Given the description of an element on the screen output the (x, y) to click on. 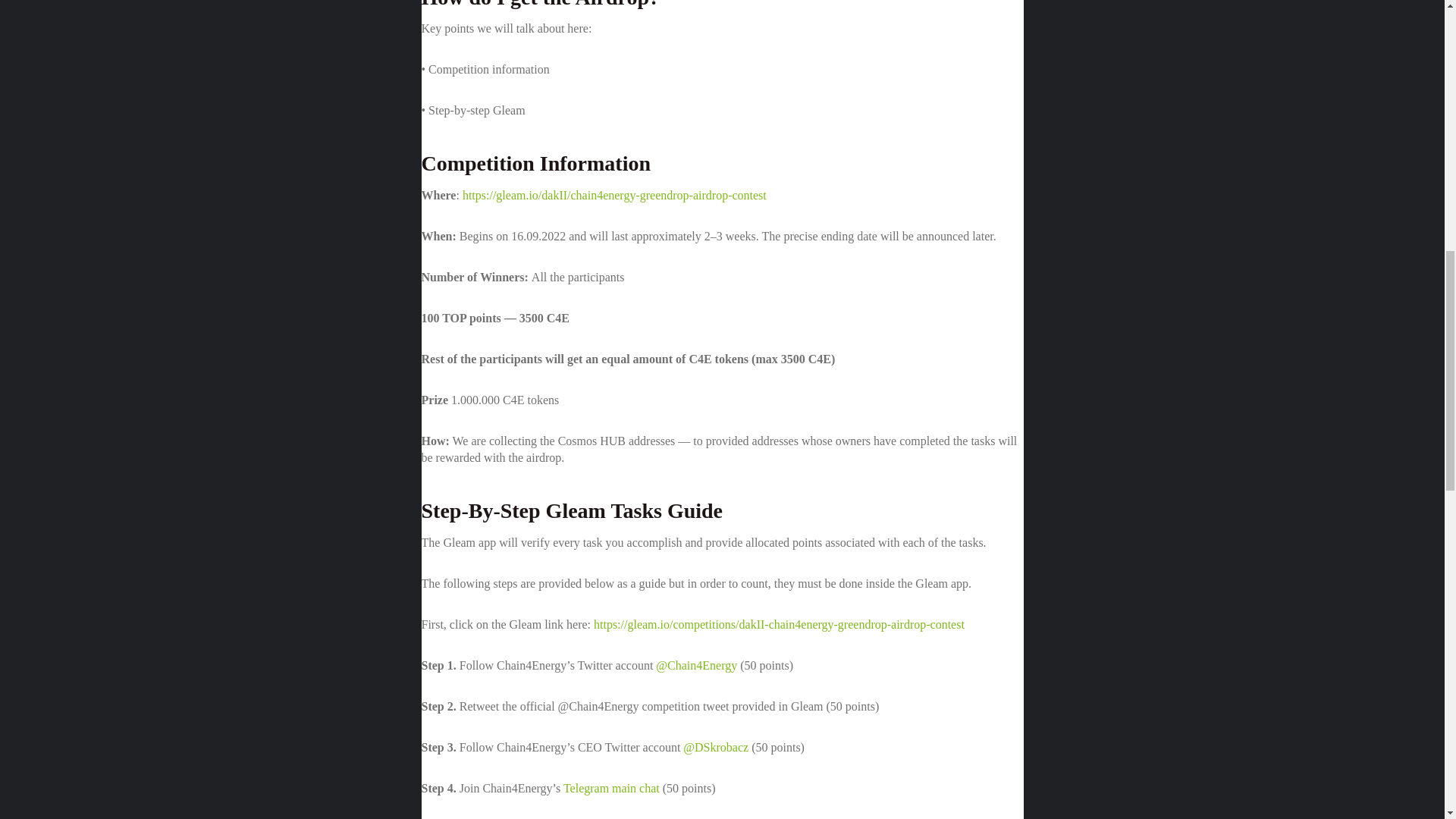
Telegram main chat (611, 788)
